Given the description of an element on the screen output the (x, y) to click on. 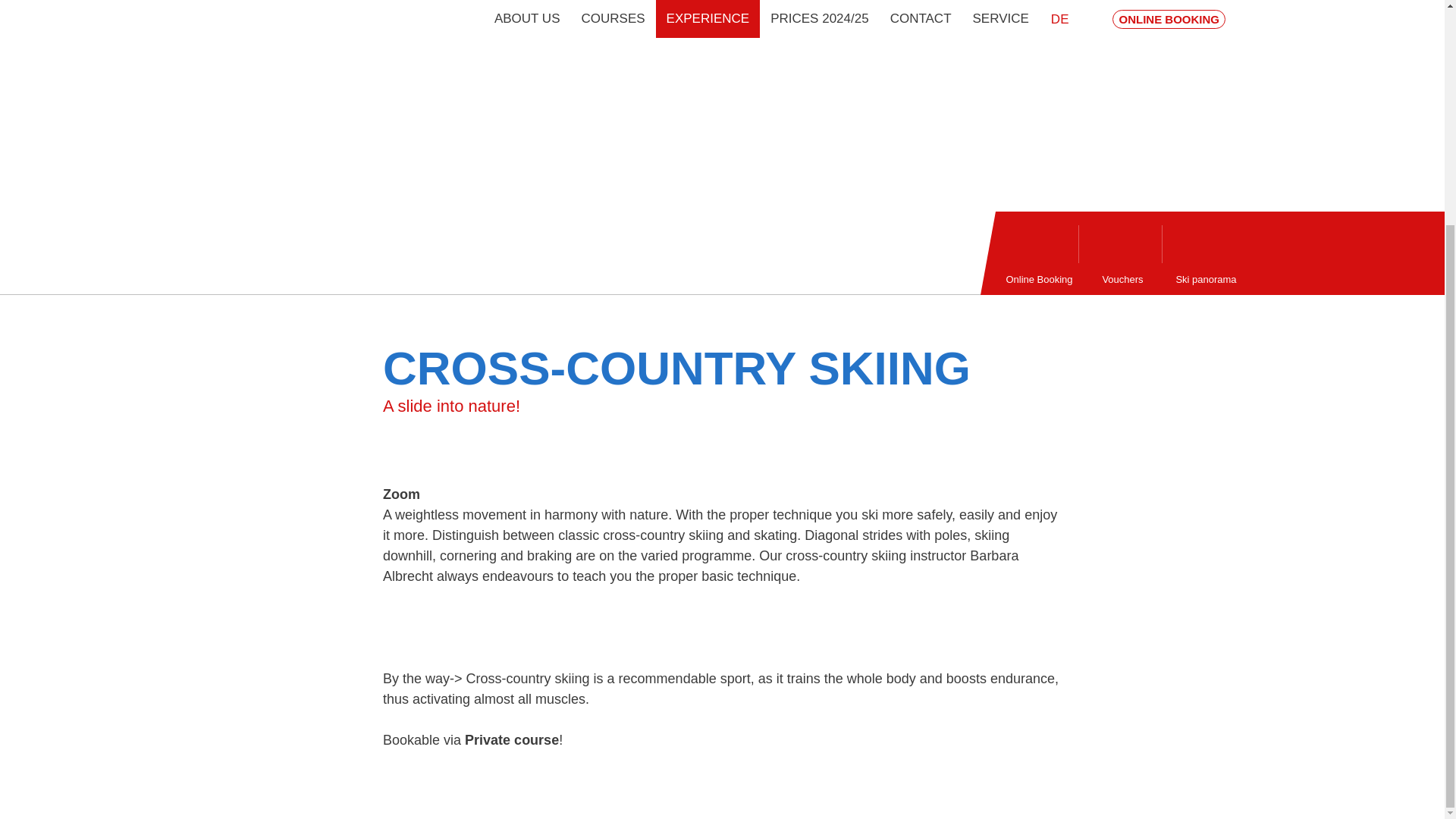
Online Booking (1038, 252)
Private course (511, 739)
Vouchers (1122, 252)
